Given the description of an element on the screen output the (x, y) to click on. 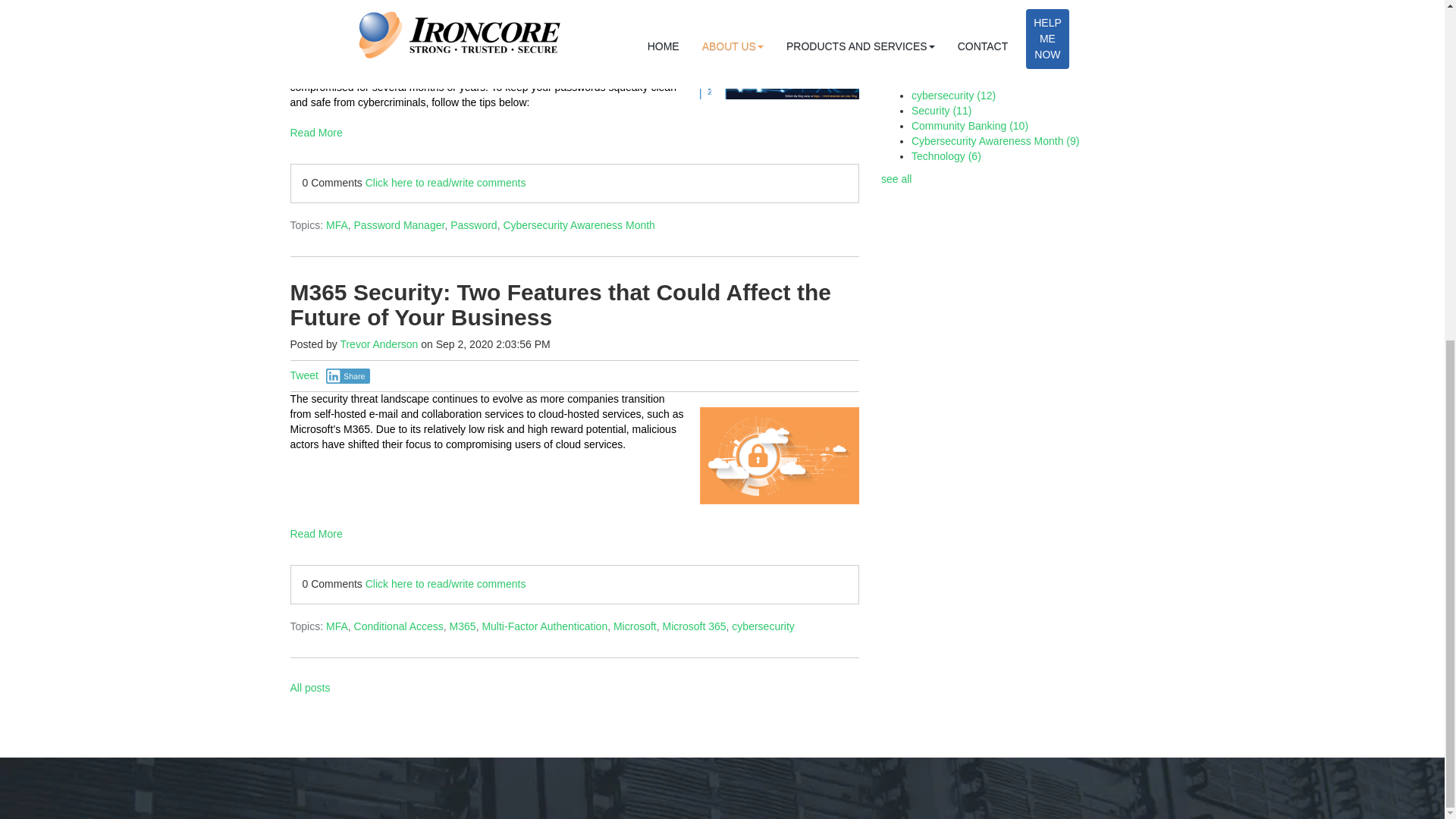
Read More (574, 132)
MFA (336, 224)
